Given the description of an element on the screen output the (x, y) to click on. 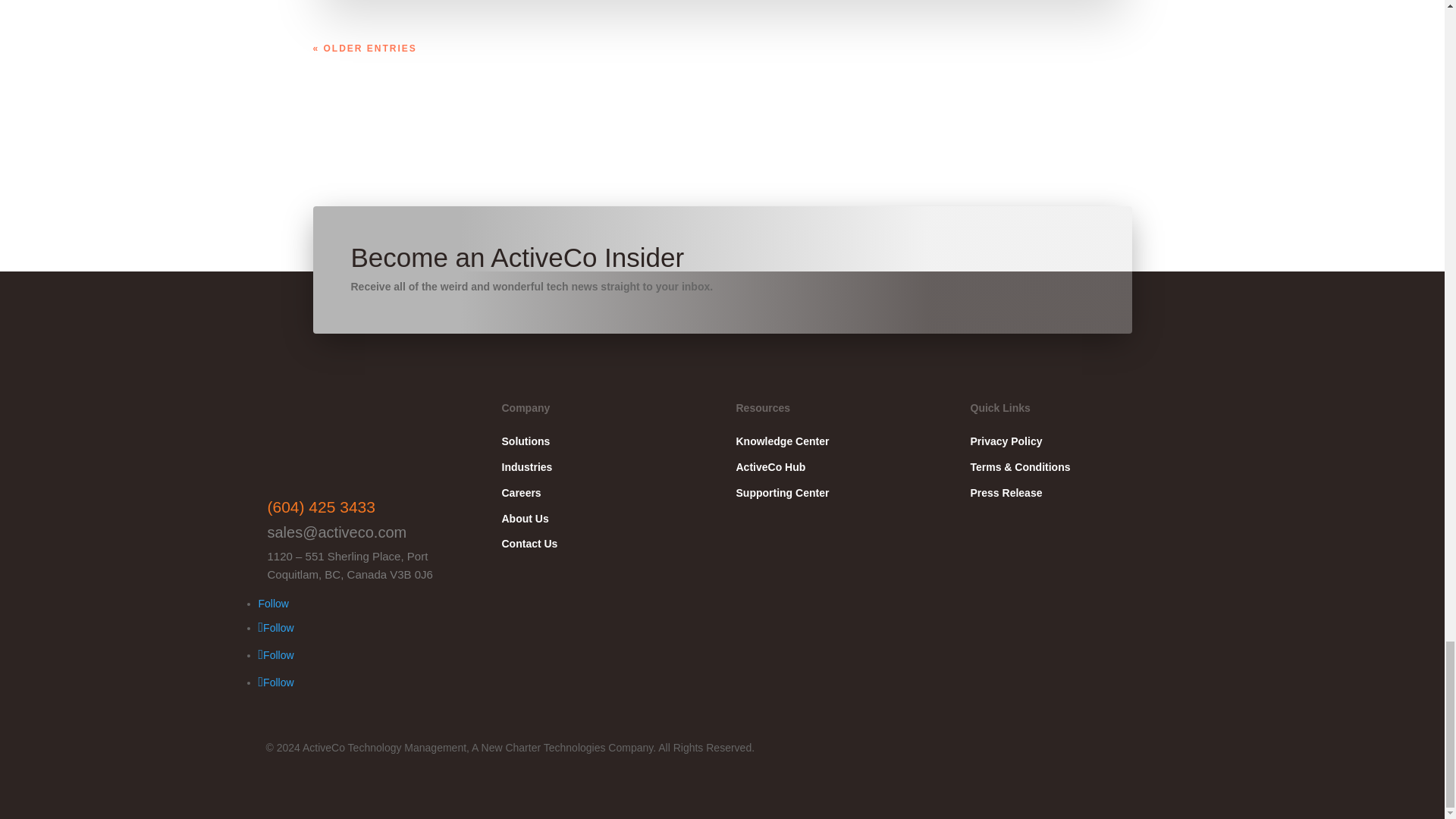
Follow on LinkedIn (272, 603)
Follow on Twitter (275, 682)
Follow (275, 627)
Follow (275, 682)
Activeco Logo White (343, 441)
Follow on Instagram (275, 654)
Follow (275, 654)
Follow on Facebook (275, 627)
Follow (272, 603)
